Given the description of an element on the screen output the (x, y) to click on. 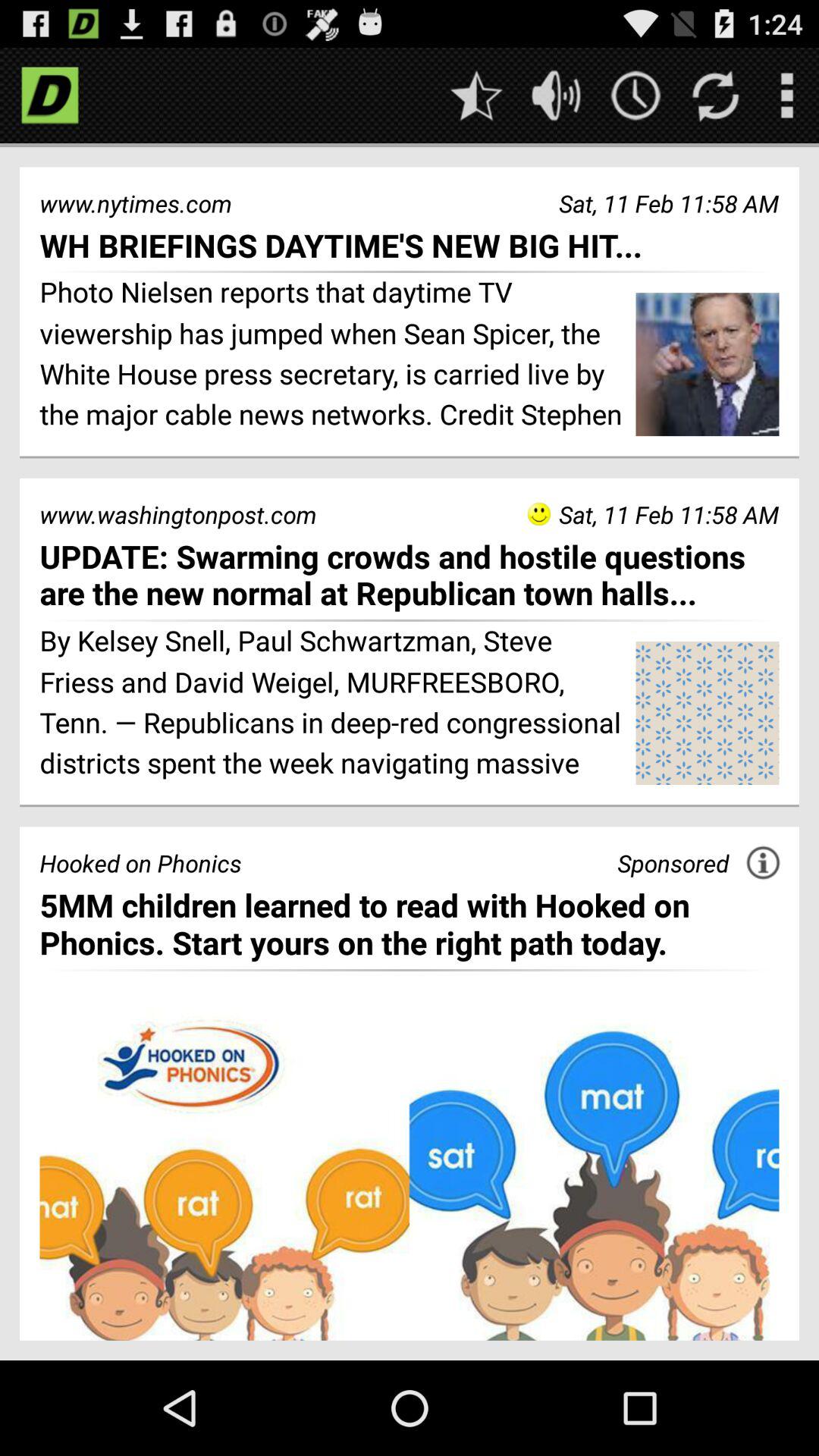
turn on the wh briefings daytime icon (409, 244)
